Given the description of an element on the screen output the (x, y) to click on. 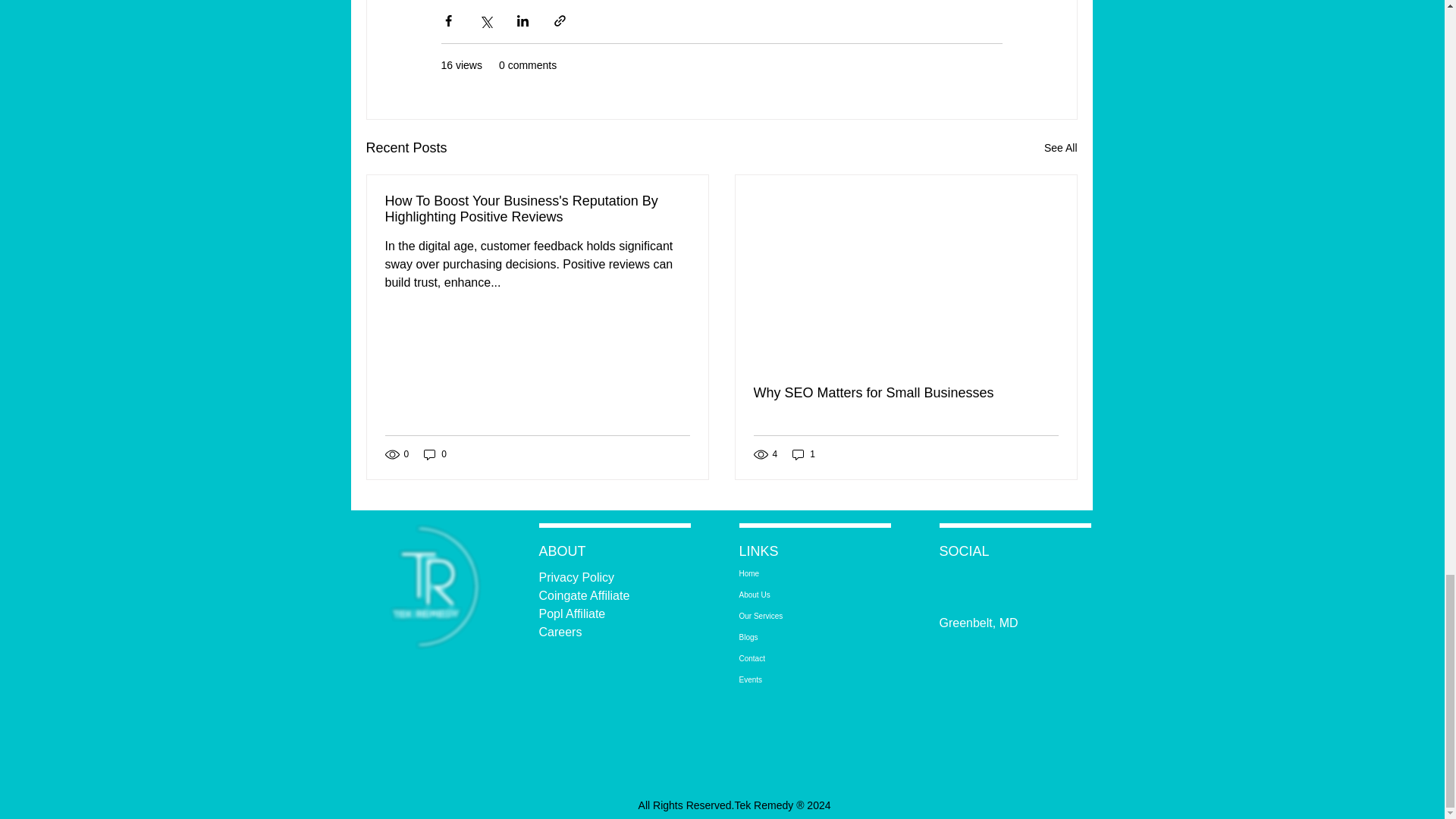
Why SEO Matters for Small Businesses (906, 392)
Coingate Affiliate (583, 594)
Popl Affiliate  (573, 613)
See All (1060, 147)
Home (791, 573)
About Us (791, 595)
Careers (559, 631)
1 (803, 454)
Blogs (791, 637)
